Given the description of an element on the screen output the (x, y) to click on. 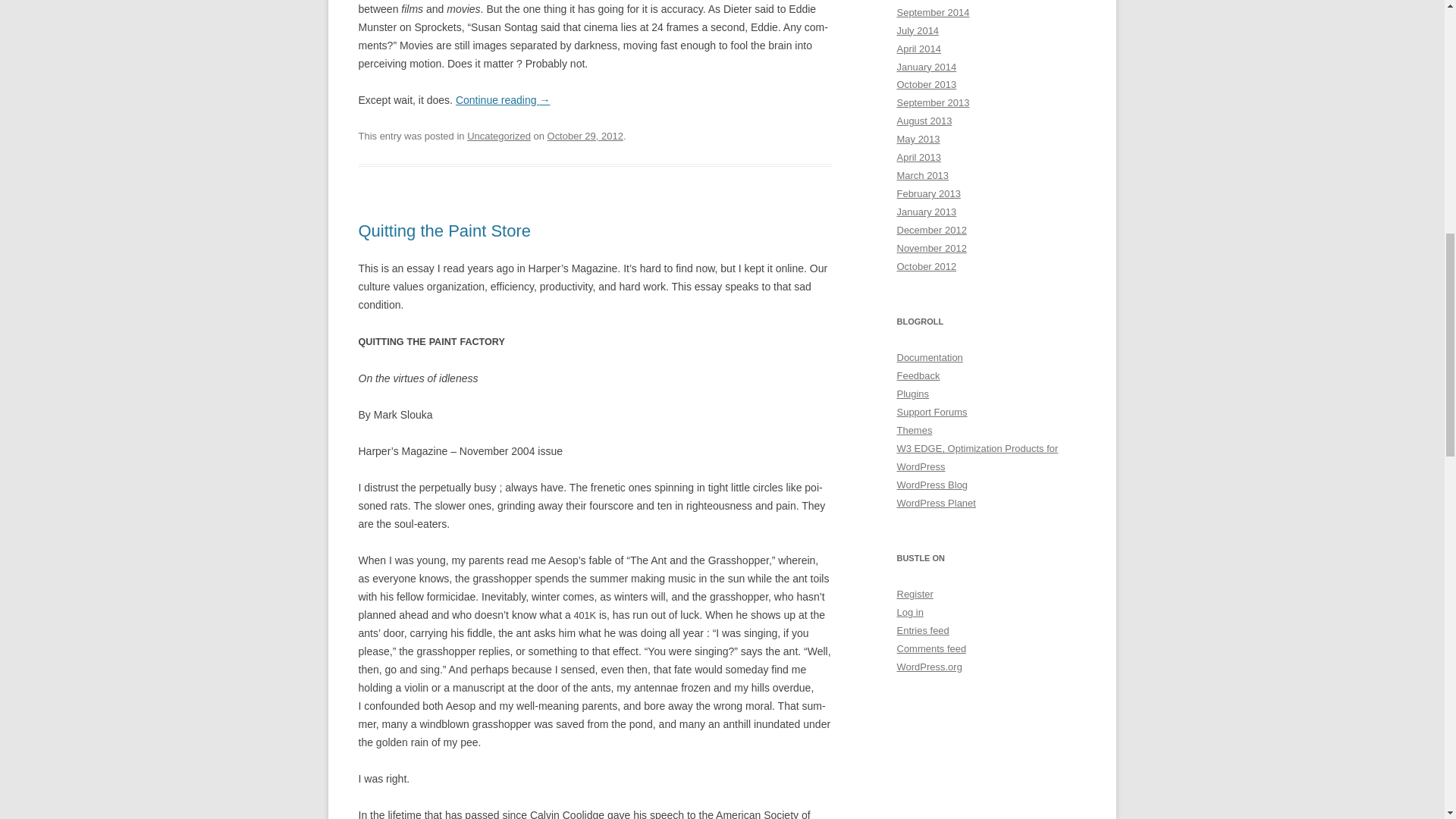
Quitting the Paint Store (443, 230)
1:56 pm (585, 135)
October 29, 2012 (585, 135)
Uncategorized (499, 135)
